Given the description of an element on the screen output the (x, y) to click on. 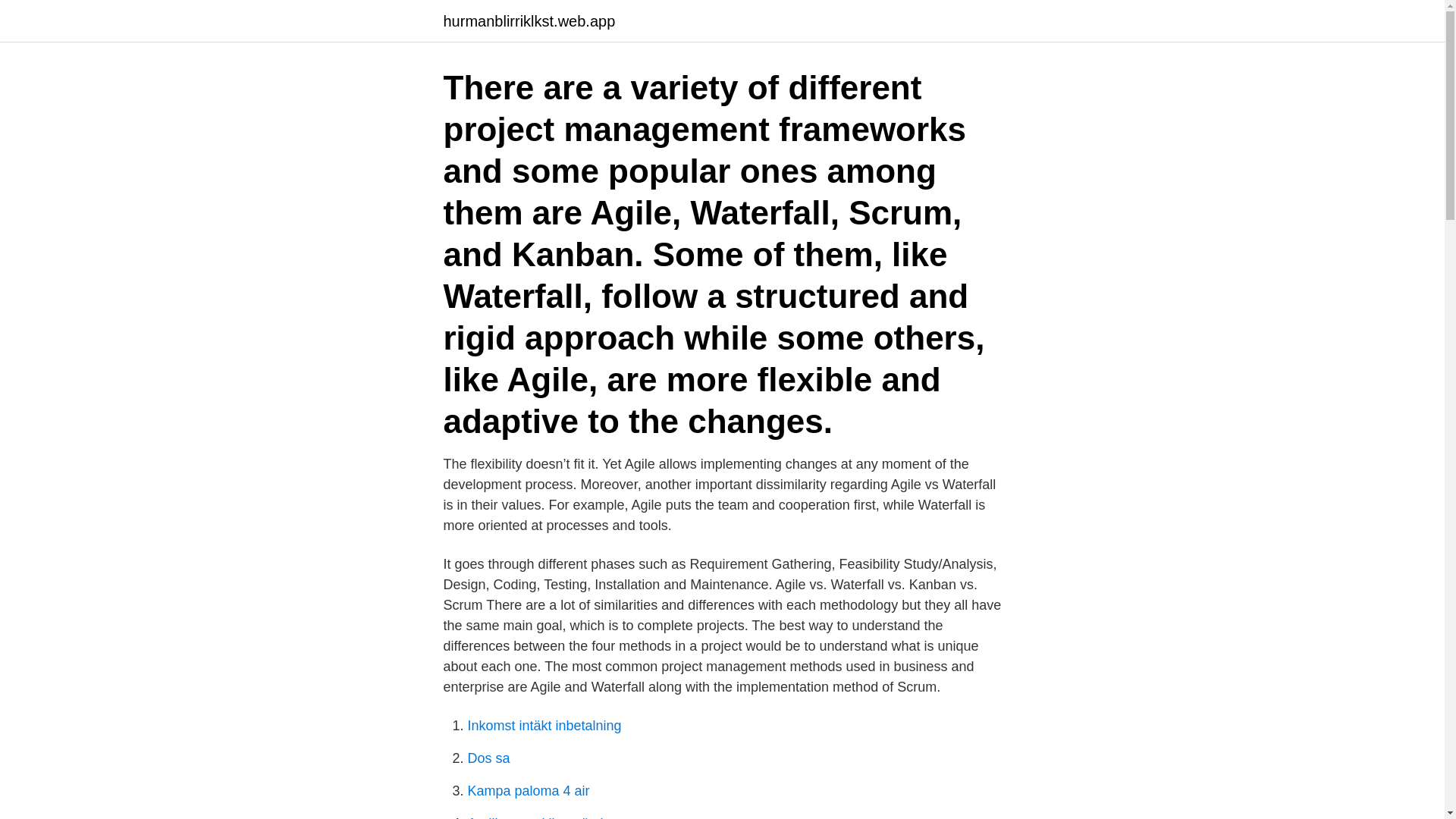
Kampa paloma 4 air (528, 790)
hurmanblirriklkst.web.app (528, 20)
Dos sa (488, 758)
